Given the description of an element on the screen output the (x, y) to click on. 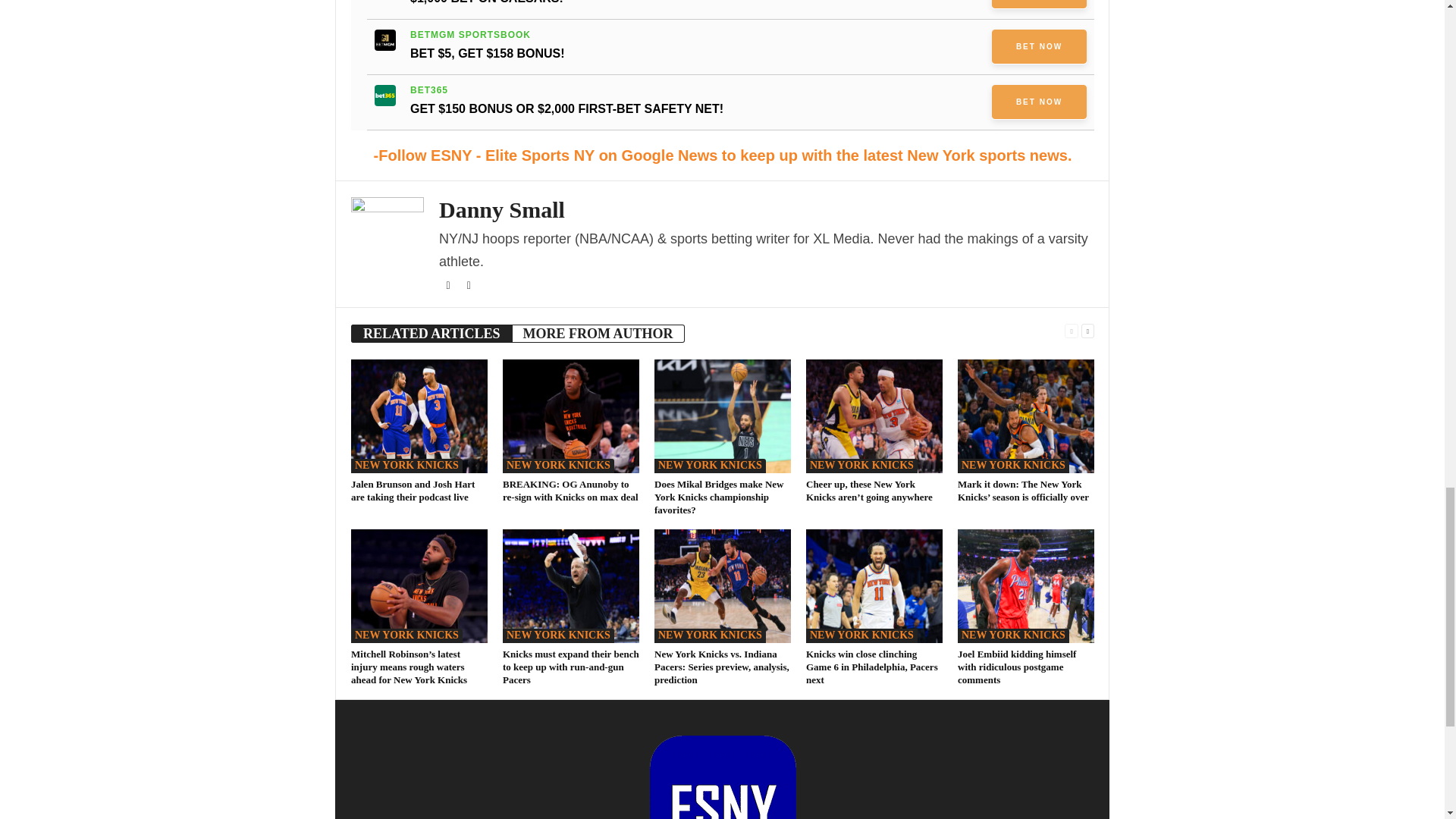
Linkedin (468, 285)
Jalen Brunson and Josh Hart are taking their podcast live (418, 416)
BREAKING: OG Anunoby to re-sign with Knicks on max deal (570, 416)
Jalen Brunson and Josh Hart are taking their podcast live (412, 490)
Twitter (449, 285)
